Given the description of an element on the screen output the (x, y) to click on. 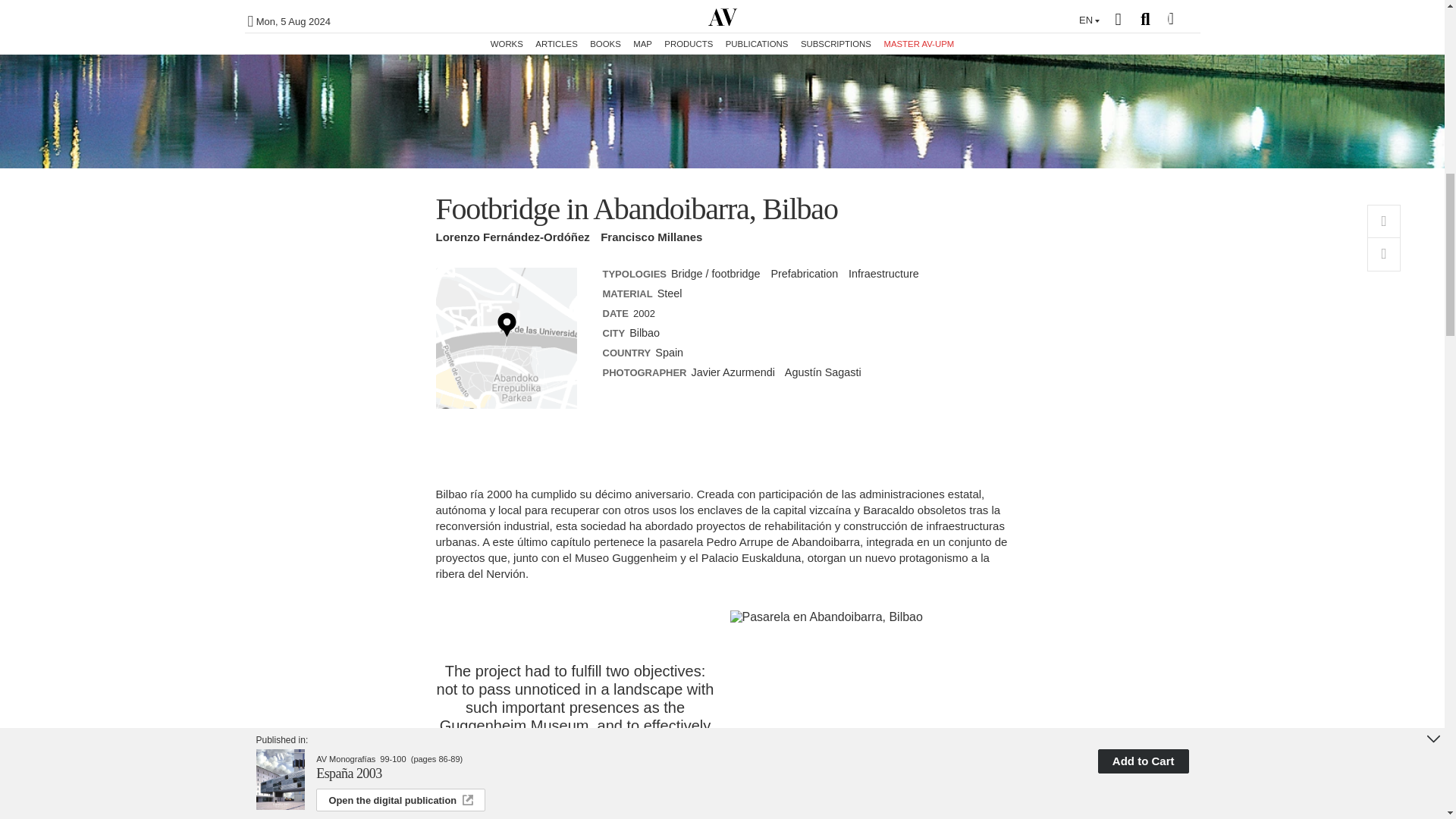
Pasarela en Abandoibarra, Bilbao (869, 617)
Add to favoites (1383, 221)
Share this content (1383, 254)
